Given the description of an element on the screen output the (x, y) to click on. 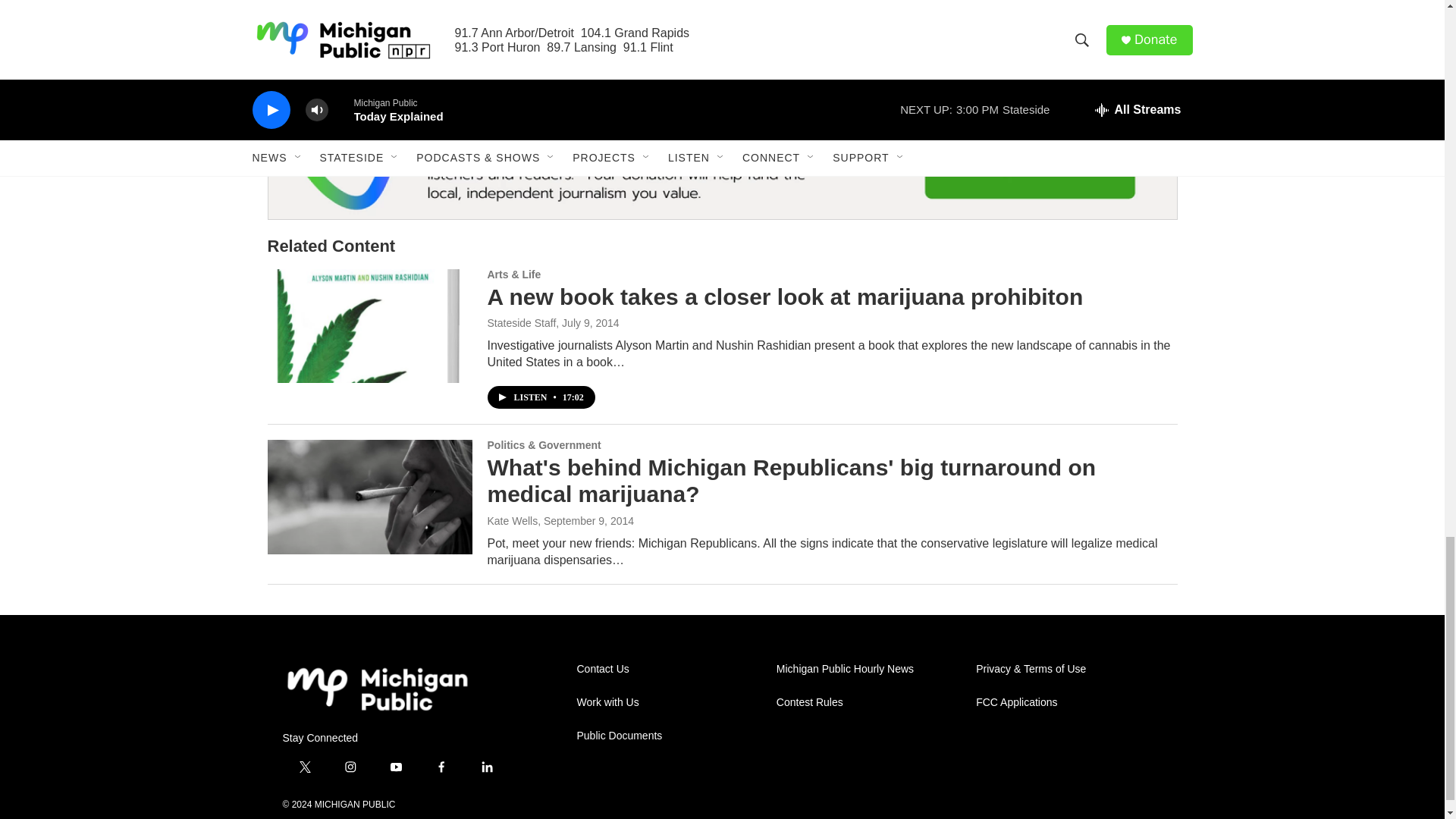
3rd party ad content (1062, 2)
